Given the description of an element on the screen output the (x, y) to click on. 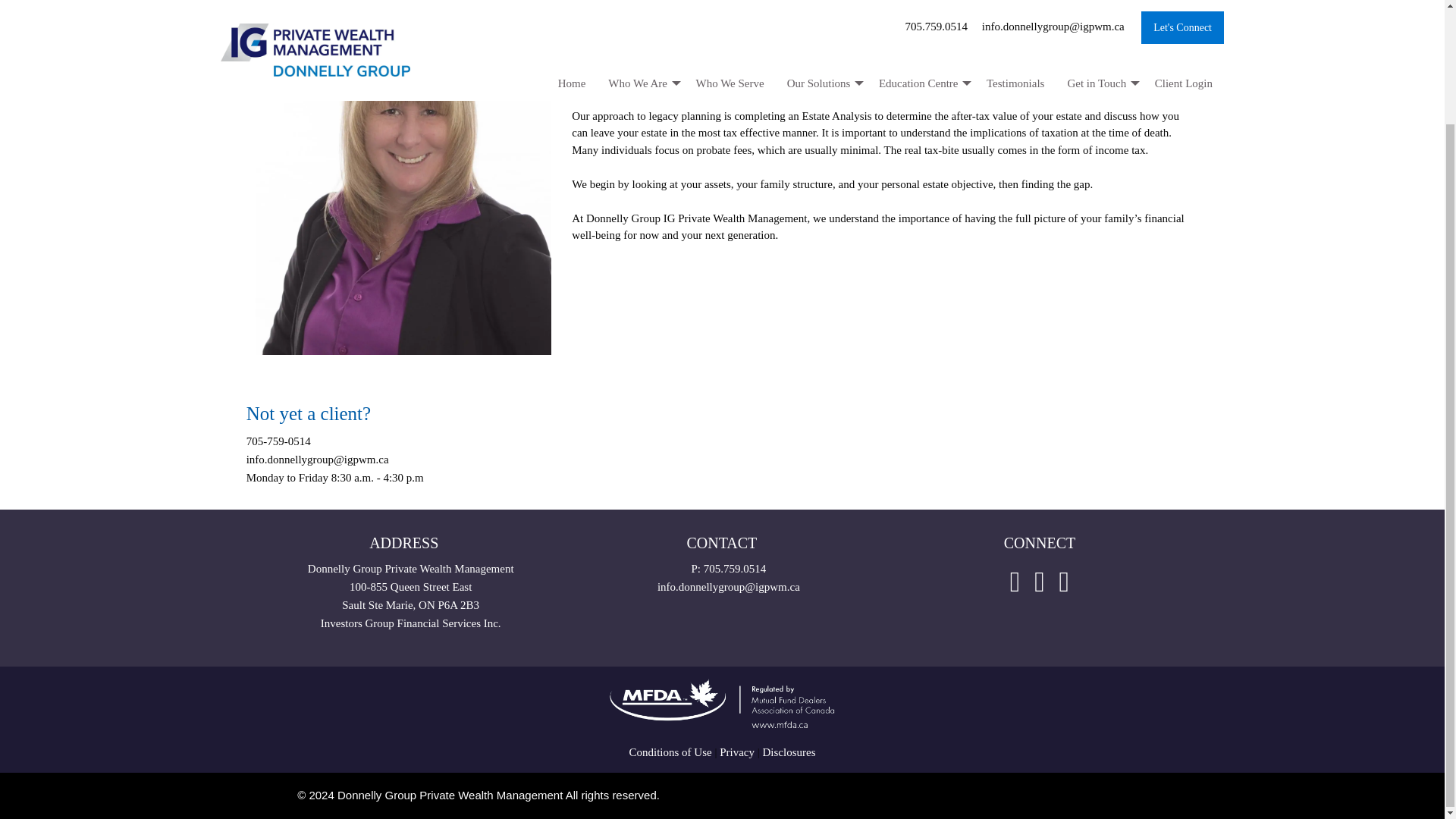
705.759.0514 (735, 568)
